Given the description of an element on the screen output the (x, y) to click on. 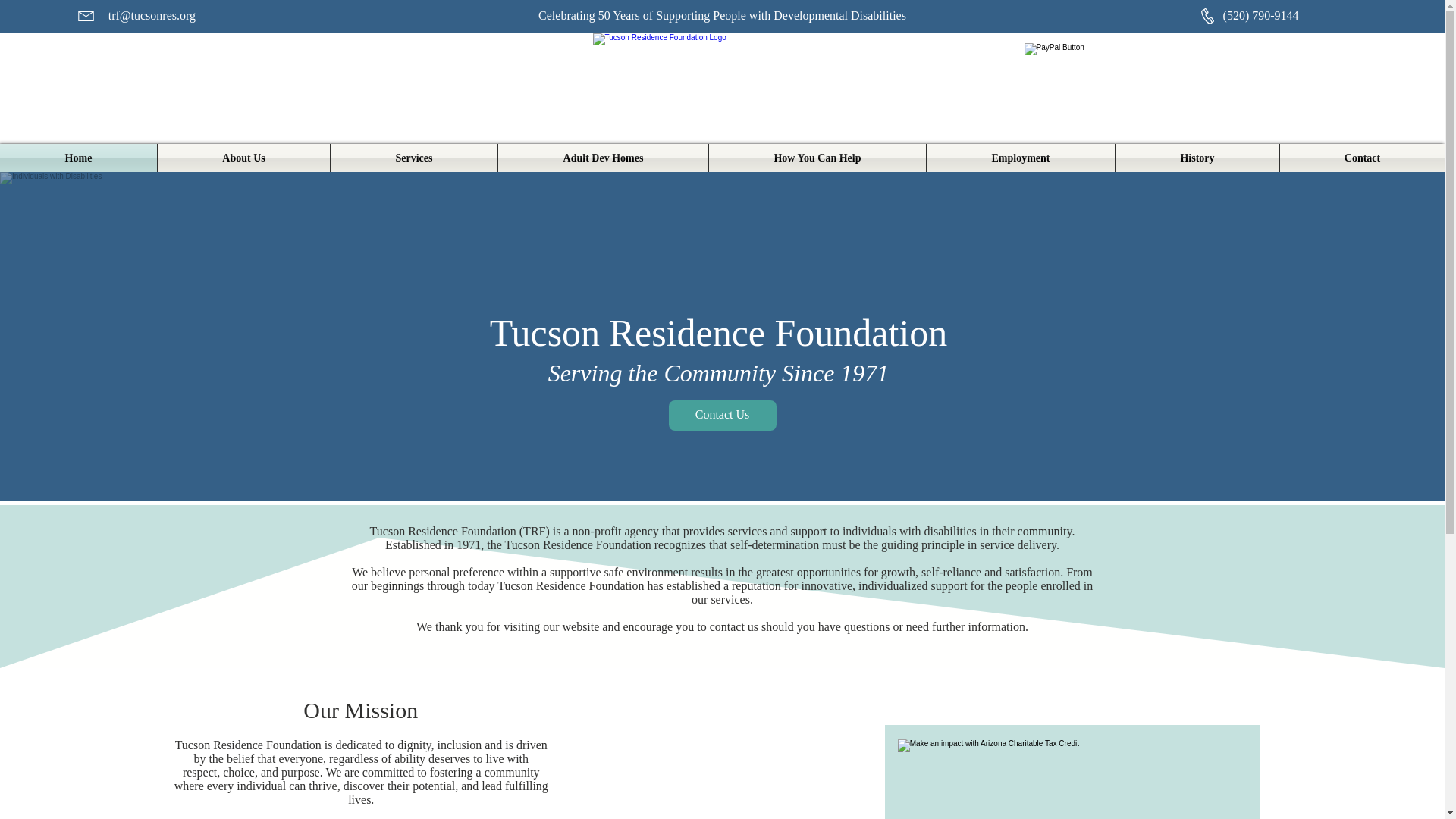
Adult Dev Homes (602, 157)
History (1197, 157)
Employment (1020, 157)
About Us (243, 157)
Services (413, 157)
How You Can Help (817, 157)
Home (78, 157)
Contact Us (722, 415)
